Given the description of an element on the screen output the (x, y) to click on. 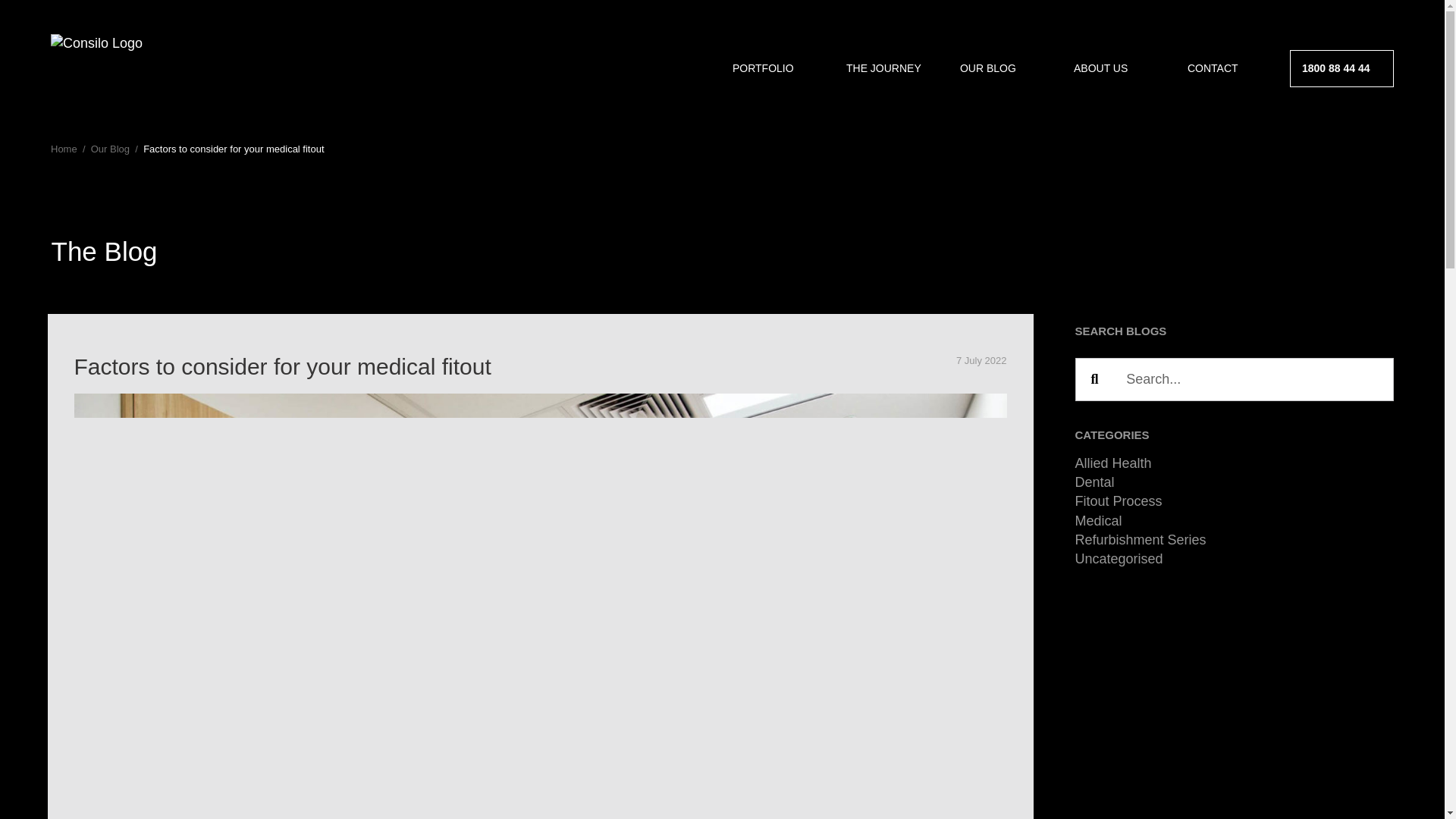
Allied Health (1113, 462)
OUR BLOG (1005, 67)
THE JOURNEY (891, 67)
Medical (1098, 520)
Refurbishment Series (1141, 539)
1800 88 44 44 (1347, 68)
Dental (1095, 482)
Fitout Process (1118, 500)
ABOUT US (1119, 67)
CONTACT (1233, 67)
PORTFOLIO (778, 67)
Our Blog (109, 148)
Home (63, 148)
